Given the description of an element on the screen output the (x, y) to click on. 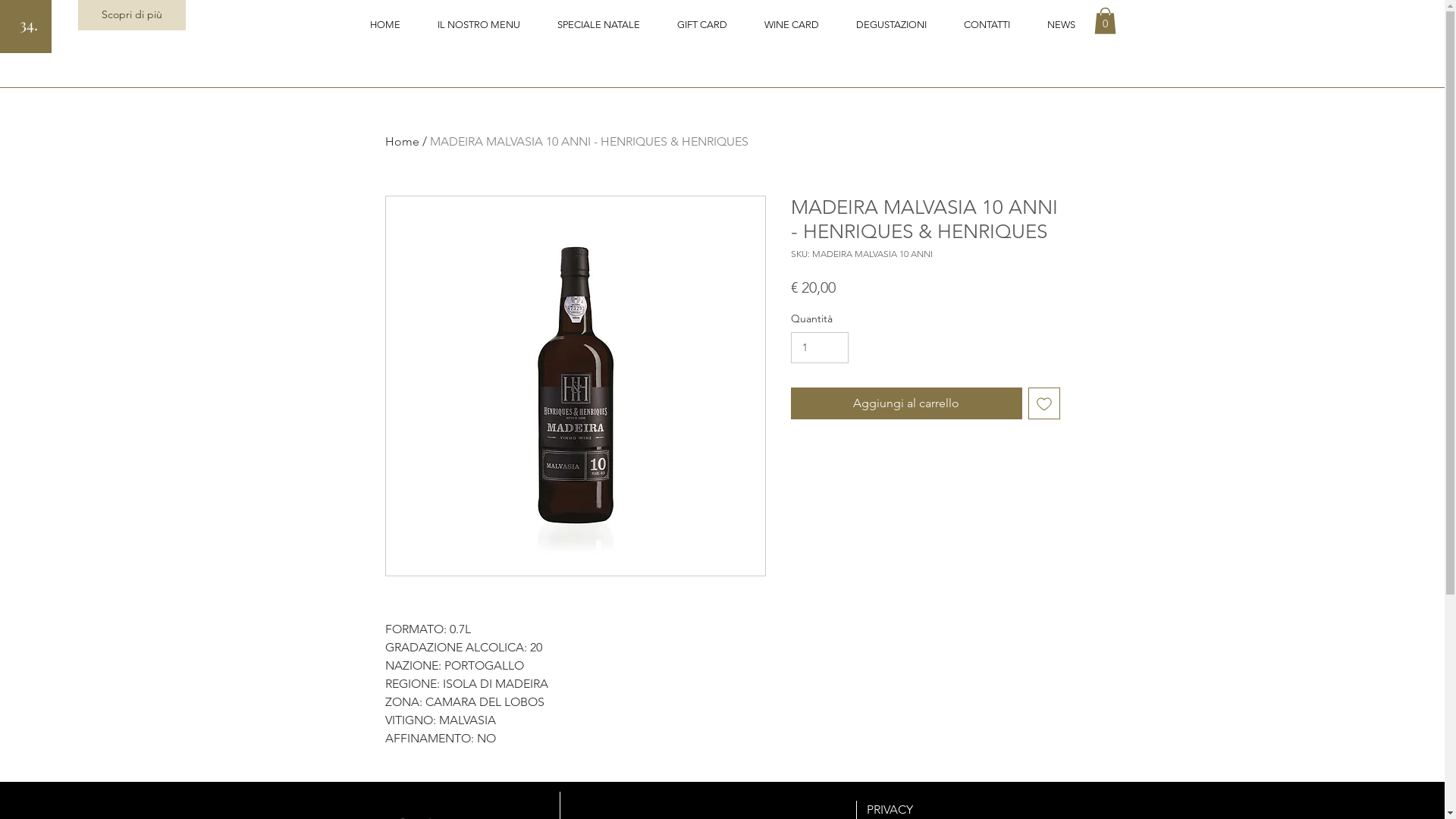
MADEIRA MALVASIA 10 ANNI - HENRIQUES & HENRIQUES Element type: text (588, 141)
WINE CARD Element type: text (791, 24)
CONTATTI Element type: text (986, 24)
Home Element type: text (402, 141)
IL NOSTRO MENU Element type: text (478, 24)
0 Element type: text (1104, 20)
DEGUSTAZIONI Element type: text (890, 24)
Aggiungi al carrello Element type: text (905, 403)
HOME Element type: text (384, 24)
GIFT CARD Element type: text (701, 24)
SPECIALE NATALE Element type: text (598, 24)
PRIVACY Element type: text (889, 809)
NEWS Element type: text (1060, 24)
34. Element type: text (28, 23)
